Given the description of an element on the screen output the (x, y) to click on. 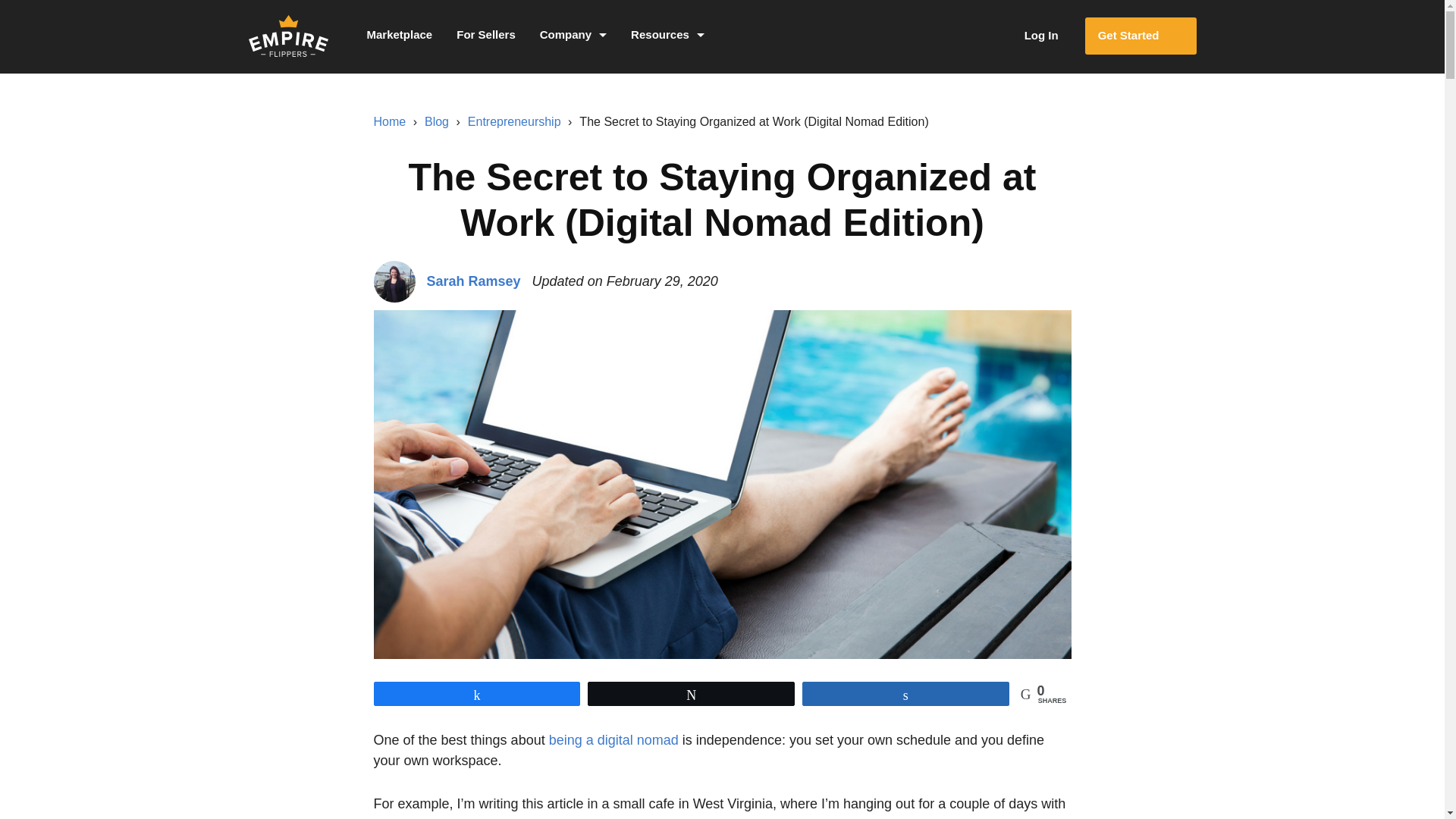
Sarah Ramsey (472, 281)
Marketplace (399, 35)
Company (573, 35)
Entrepreneurship (513, 122)
Home (389, 122)
For Sellers (486, 35)
Blog (436, 122)
Get Started (1140, 35)
being a digital nomad (613, 739)
Log In (1025, 35)
